Given the description of an element on the screen output the (x, y) to click on. 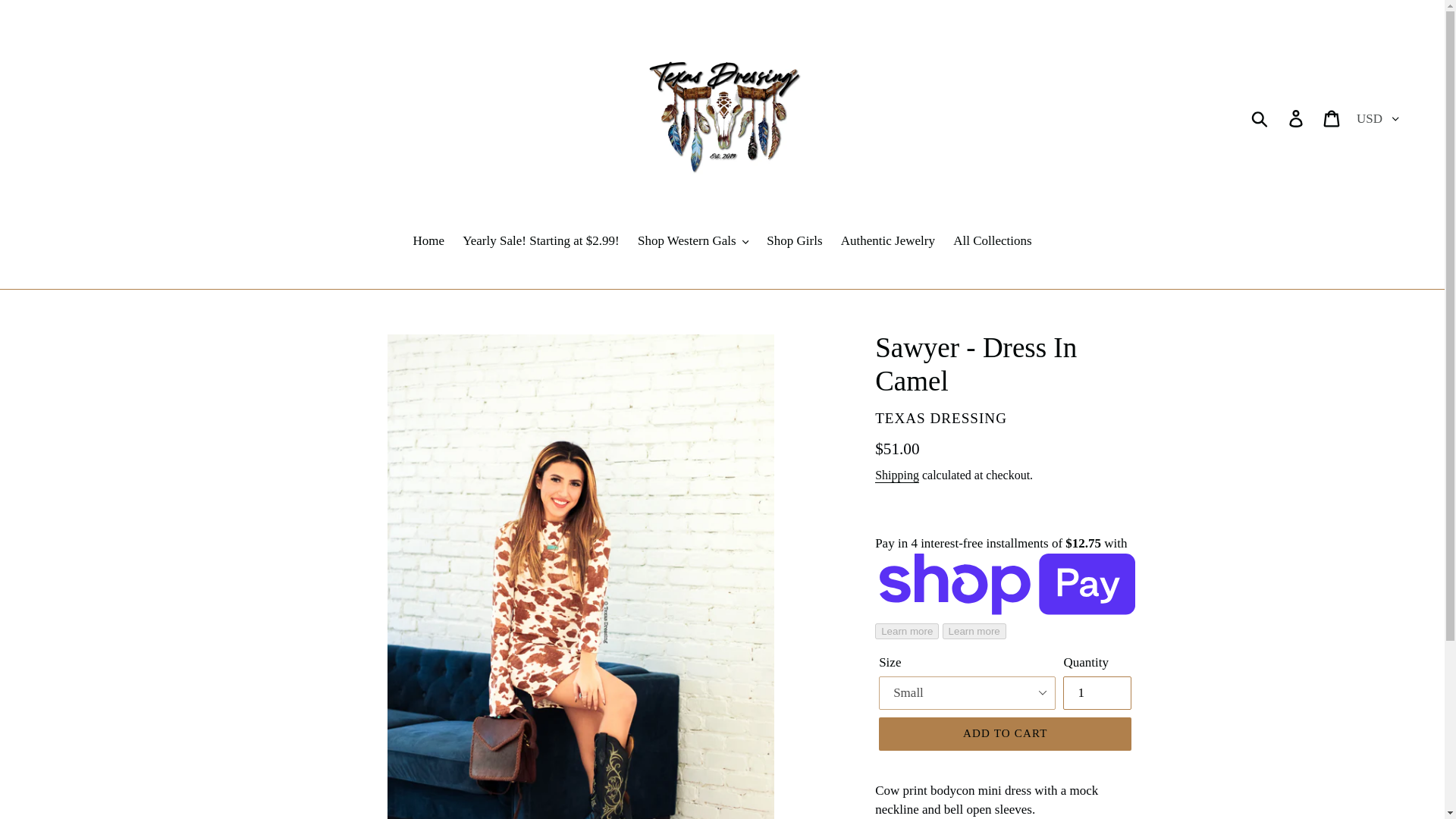
1 (1096, 693)
Submit (1260, 117)
Cart (1332, 117)
Log in (1296, 117)
